Given the description of an element on the screen output the (x, y) to click on. 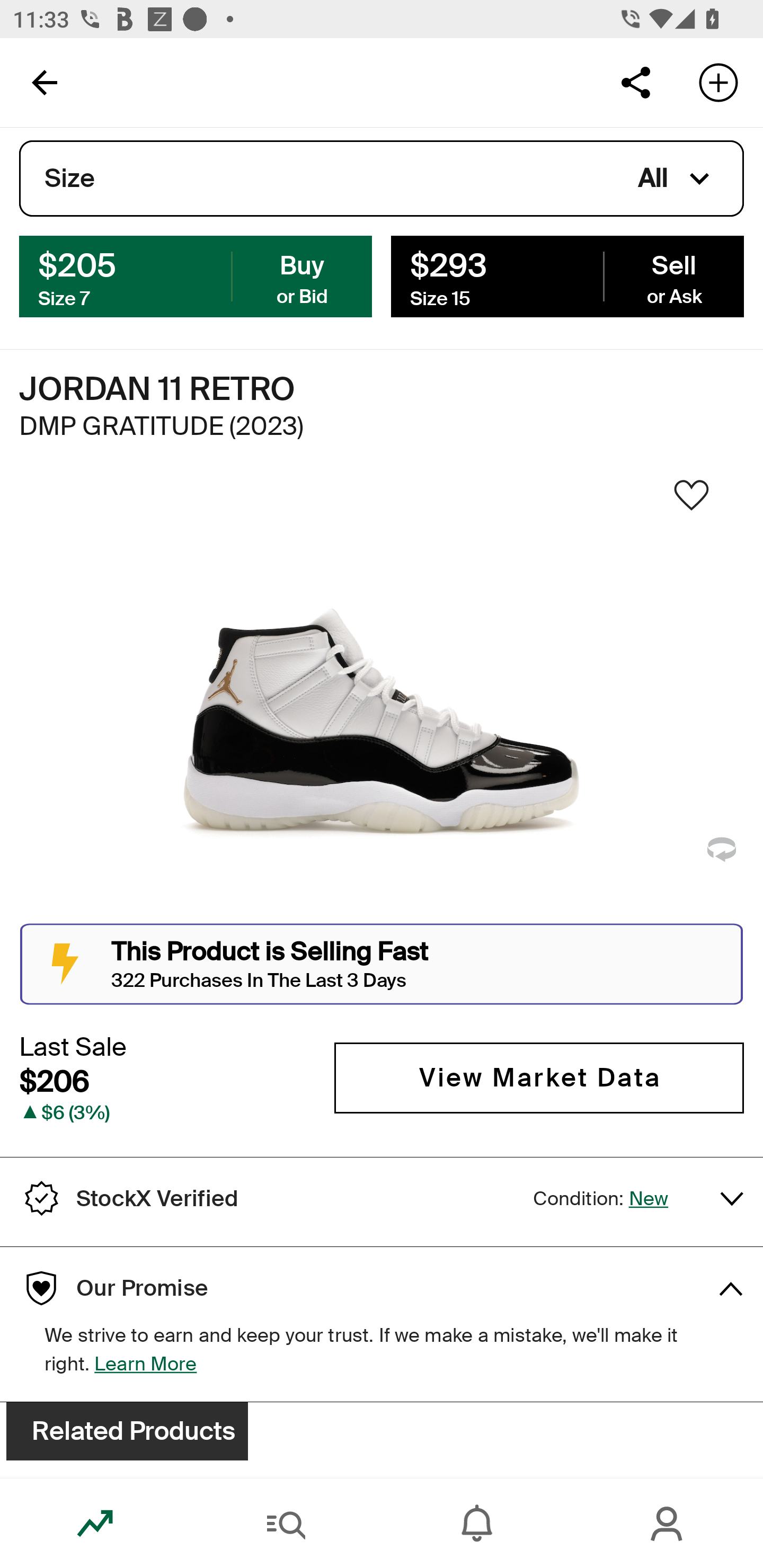
Share (635, 81)
Add (718, 81)
Size All (381, 178)
$205 Buy Size 7 or Bid (195, 275)
$293 Sell Size 15 or Ask (566, 275)
Sneaker Image (381, 699)
View Market Data (538, 1077)
Search (285, 1523)
Inbox (476, 1523)
Account (667, 1523)
